Given the description of an element on the screen output the (x, y) to click on. 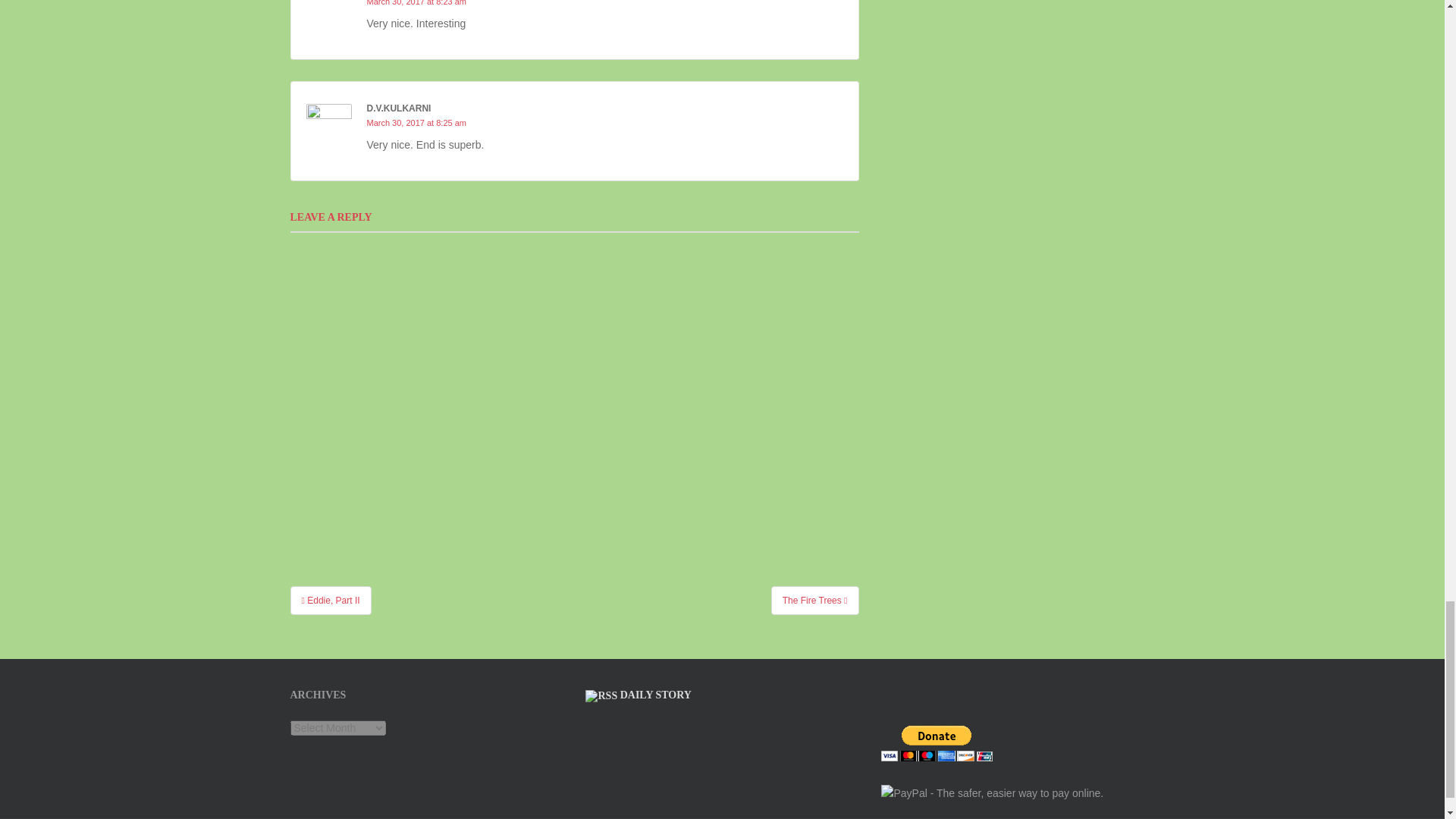
March 30, 2017 at 8:23 am (415, 2)
Eddie, Part II (330, 600)
The Fire Trees (815, 600)
DAILY STORY (655, 695)
March 30, 2017 at 8:25 am (415, 122)
